Given the description of an element on the screen output the (x, y) to click on. 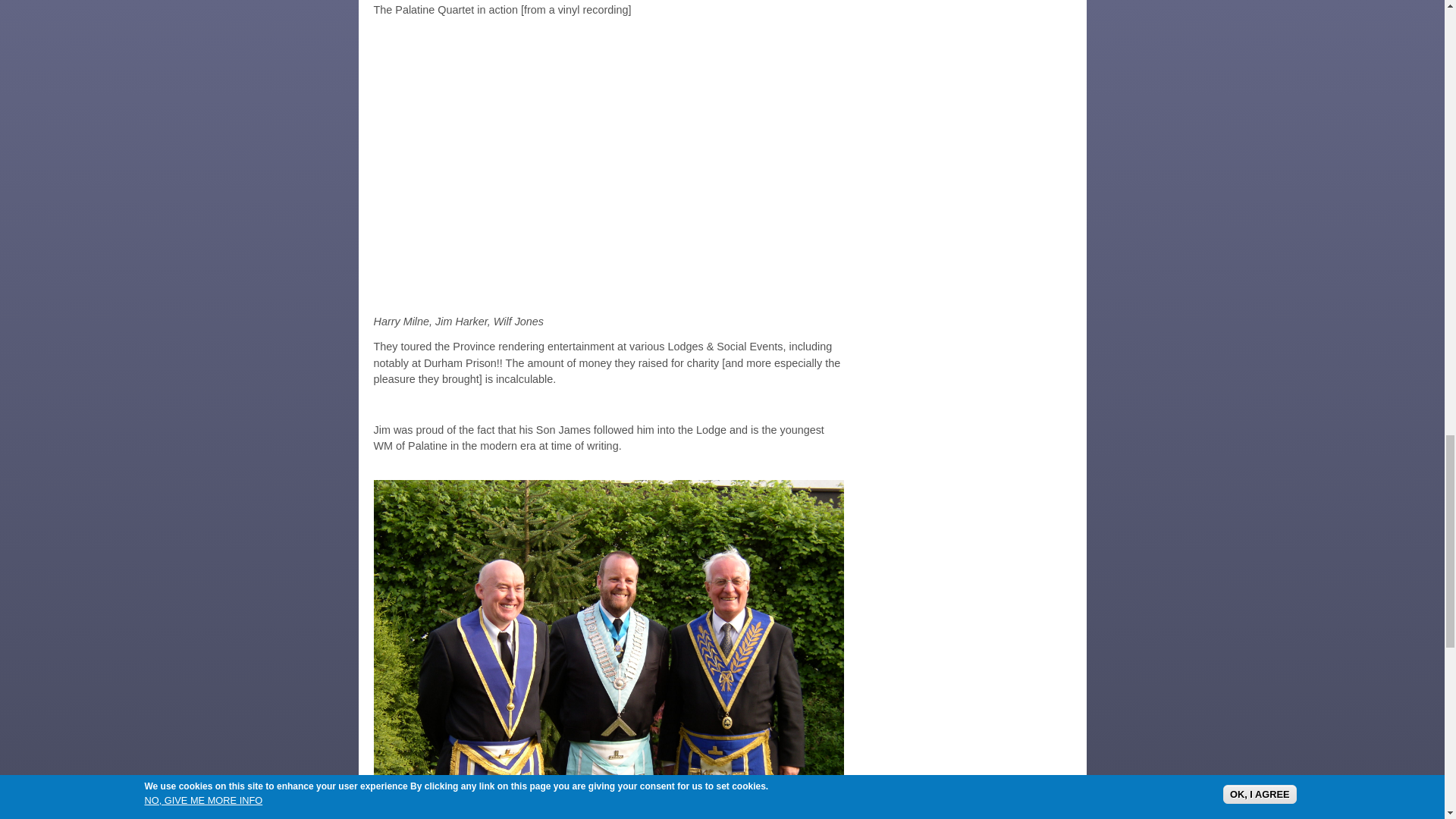
YouTube video player (607, 163)
